Given the description of an element on the screen output the (x, y) to click on. 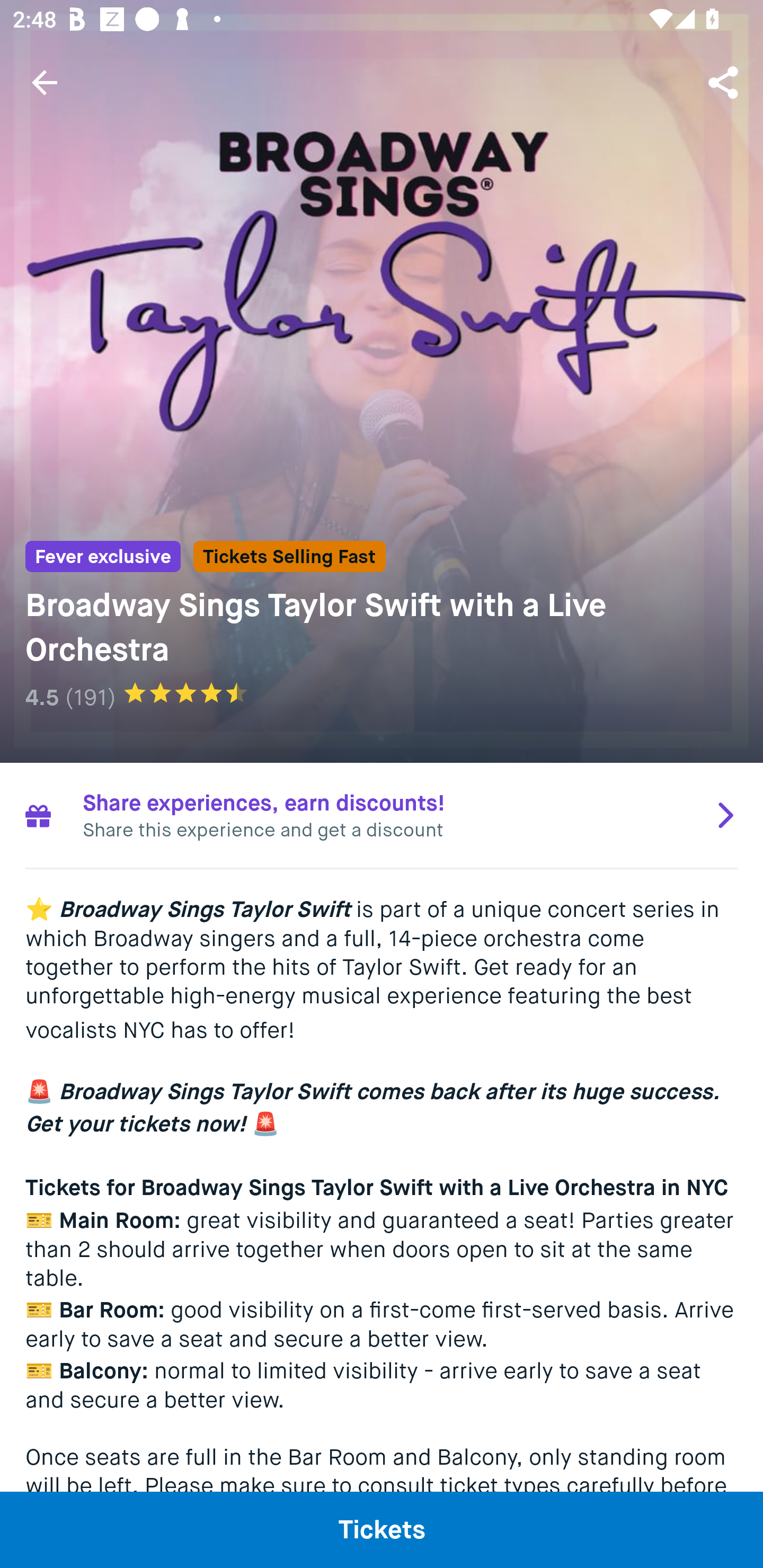
Navigate up (44, 82)
Share (724, 81)
(191) (89, 697)
Tickets (381, 1529)
